Given the description of an element on the screen output the (x, y) to click on. 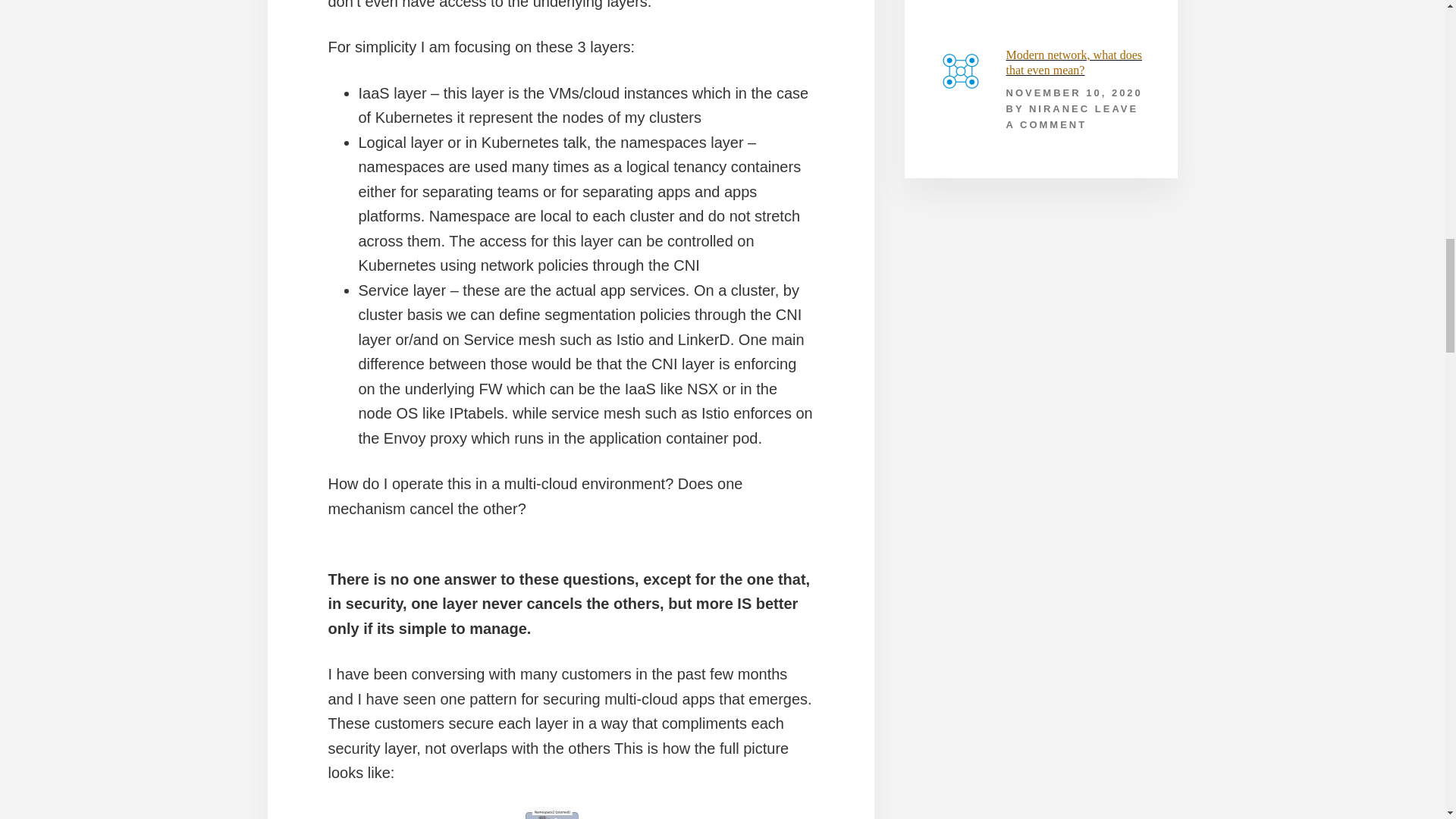
NIRANEC (1059, 108)
Modern network, what does that even mean? (1073, 62)
LEAVE A COMMENT (1072, 116)
